Given the description of an element on the screen output the (x, y) to click on. 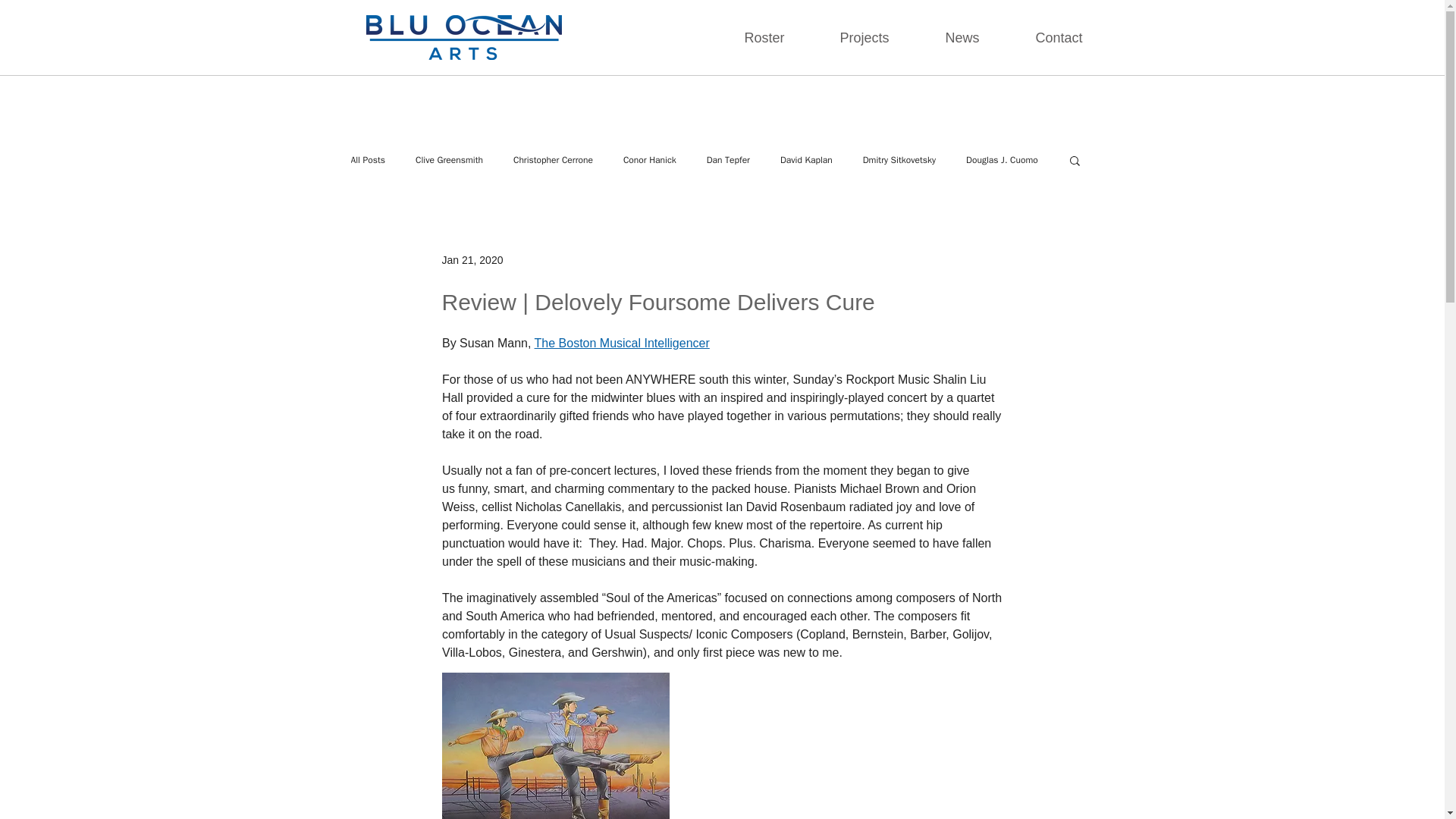
Jan 21, 2020 (471, 259)
Clive Greensmith (448, 159)
The Boston Musical Intelligencer (621, 342)
David Kaplan (806, 159)
Conor Hanick (650, 159)
Christopher Cerrone (552, 159)
Douglas J. Cuomo (1002, 159)
News (946, 37)
Dmitry Sitkovetsky (899, 159)
Dan Tepfer (727, 159)
All Posts (367, 159)
